Given the description of an element on the screen output the (x, y) to click on. 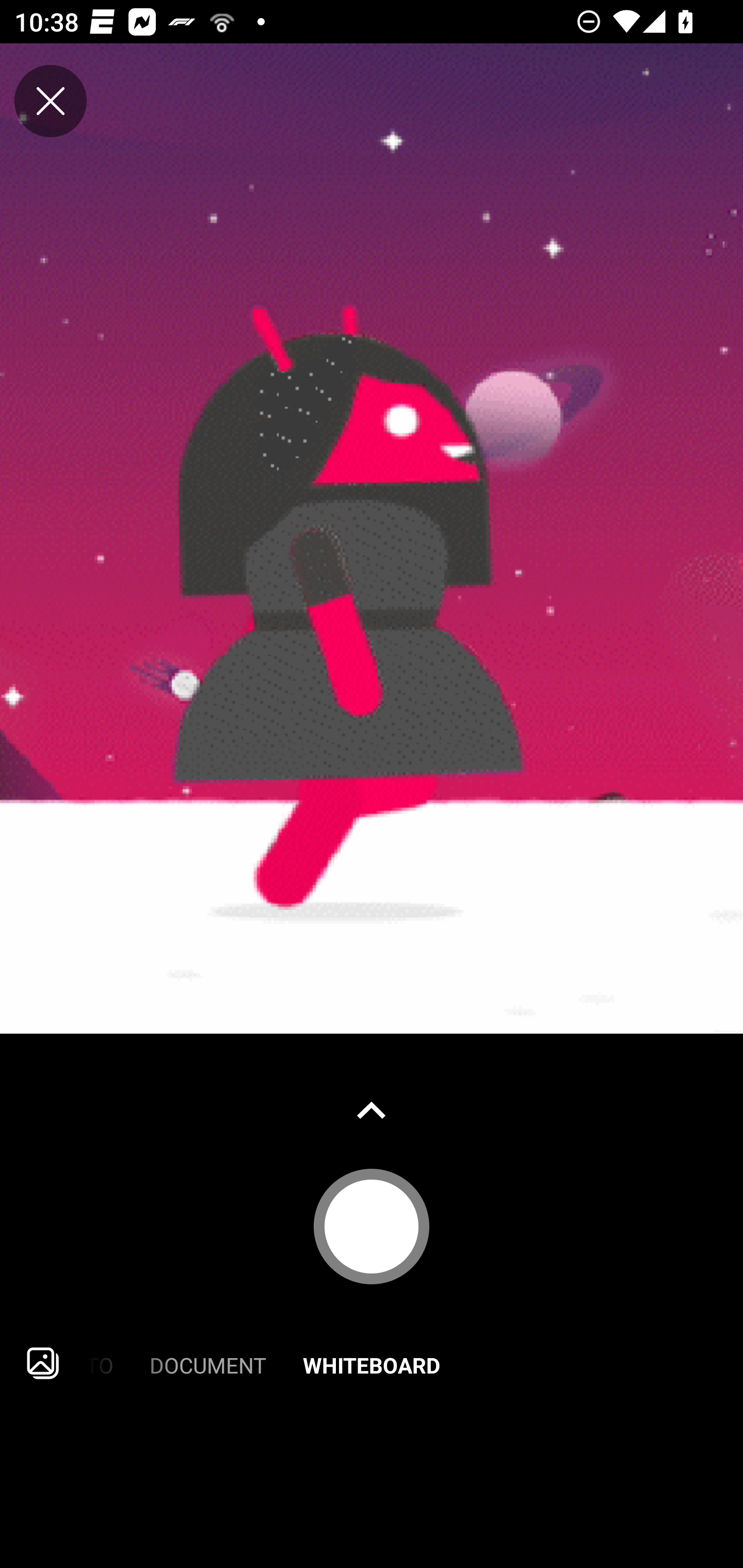
Close (50, 101)
Show gallery (371, 1110)
Capture (371, 1226)
Import (43, 1363)
DOCUMENT (207, 1362)
WHITEBOARD (371, 1362)
